Given the description of an element on the screen output the (x, y) to click on. 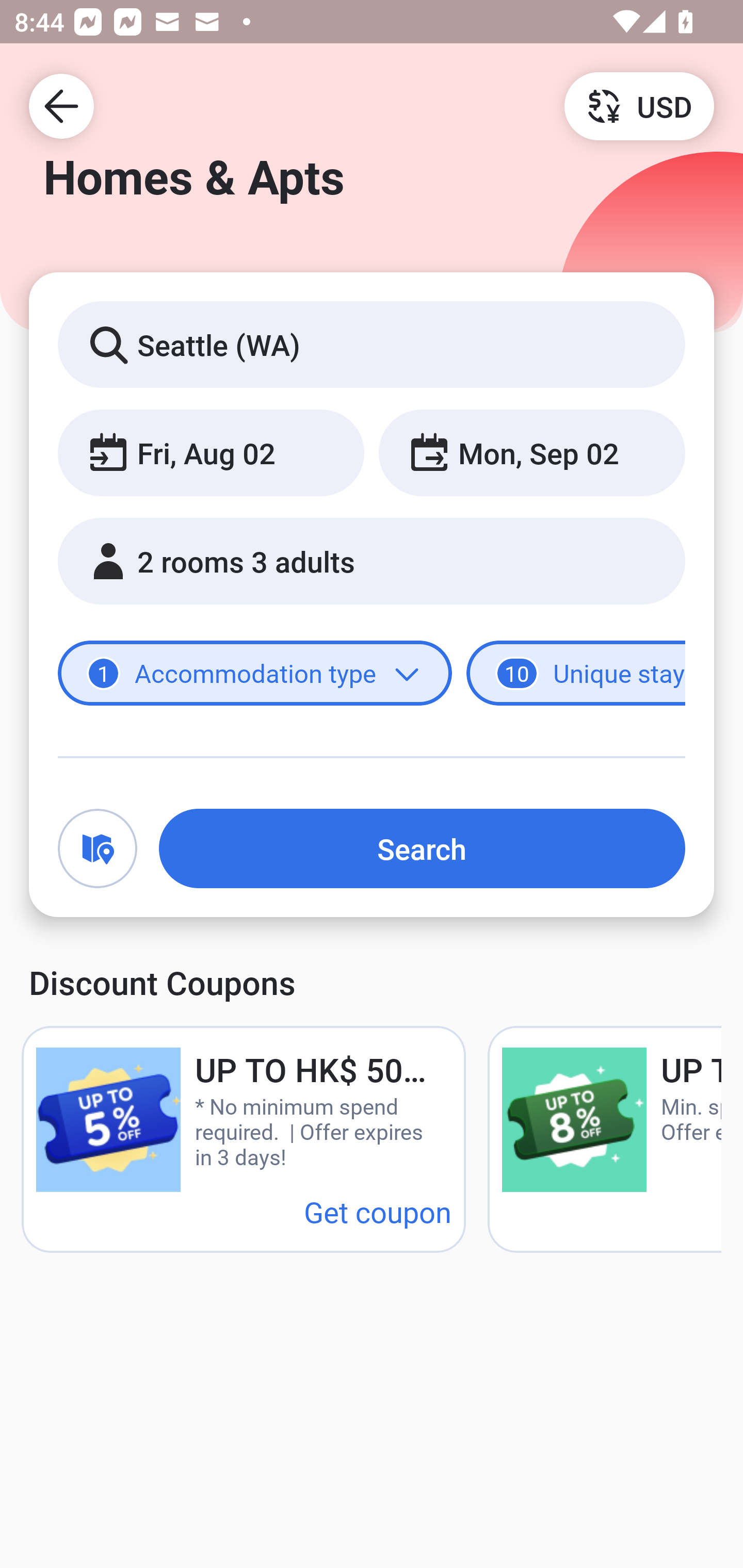
USD (639, 105)
Seattle (WA) (371, 344)
Fri, Aug 02 (210, 452)
Mon, Sep 02 (531, 452)
2 rooms 3 adults (371, 561)
1 Accommodation type (254, 673)
10 Unique stays (575, 673)
Search (422, 848)
Get coupon (377, 1211)
